Given the description of an element on the screen output the (x, y) to click on. 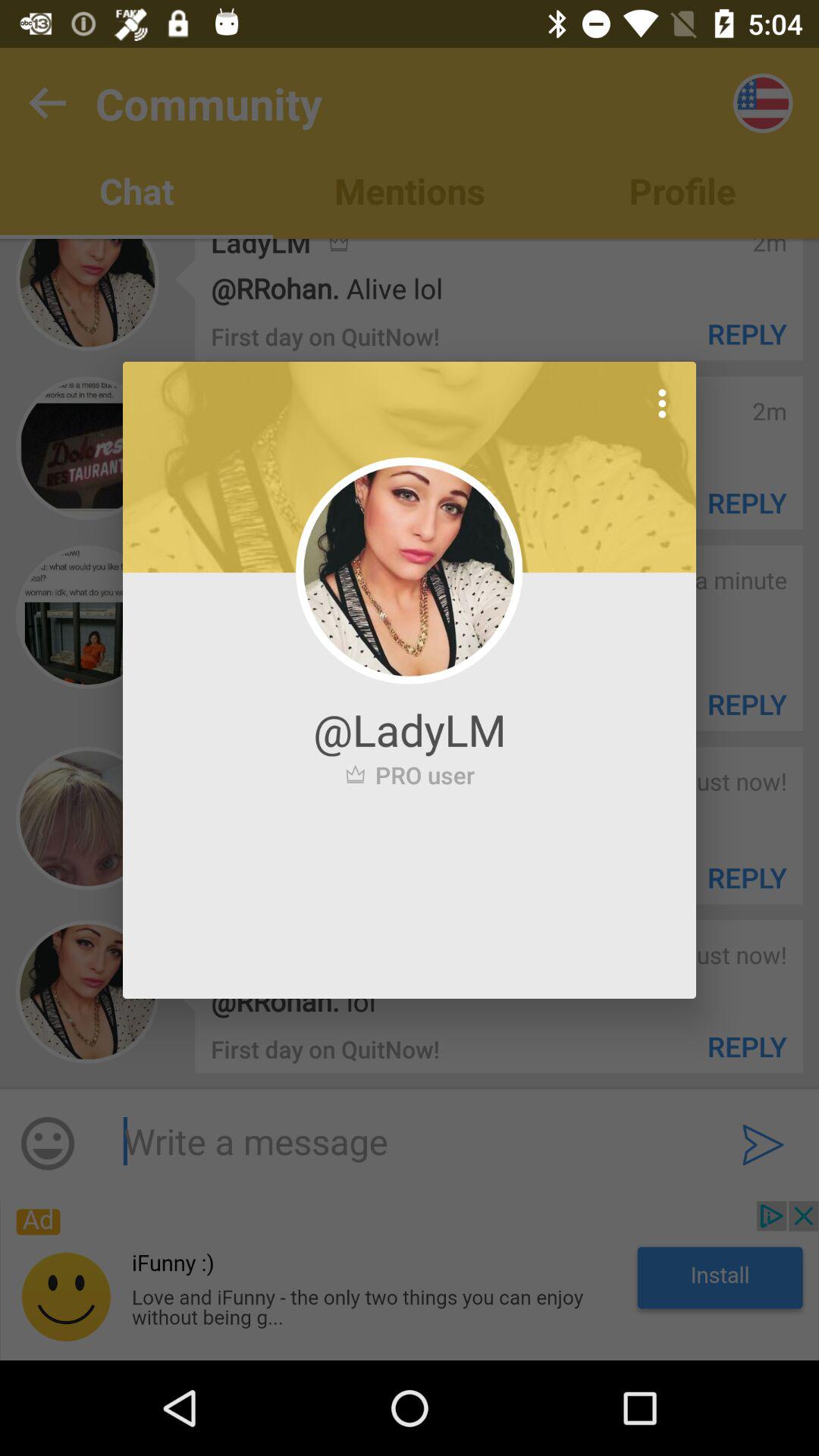
tap icon at the top right corner (662, 403)
